Given the description of an element on the screen output the (x, y) to click on. 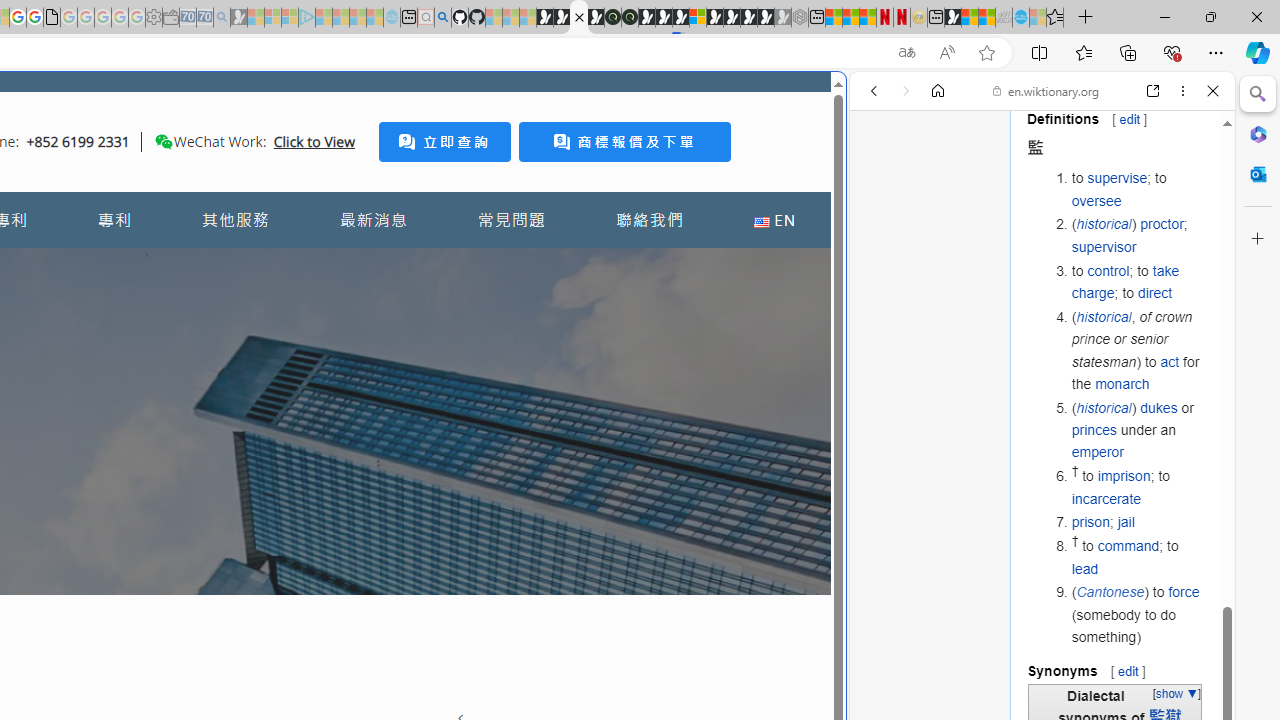
dukes (1158, 407)
